Given the description of an element on the screen output the (x, y) to click on. 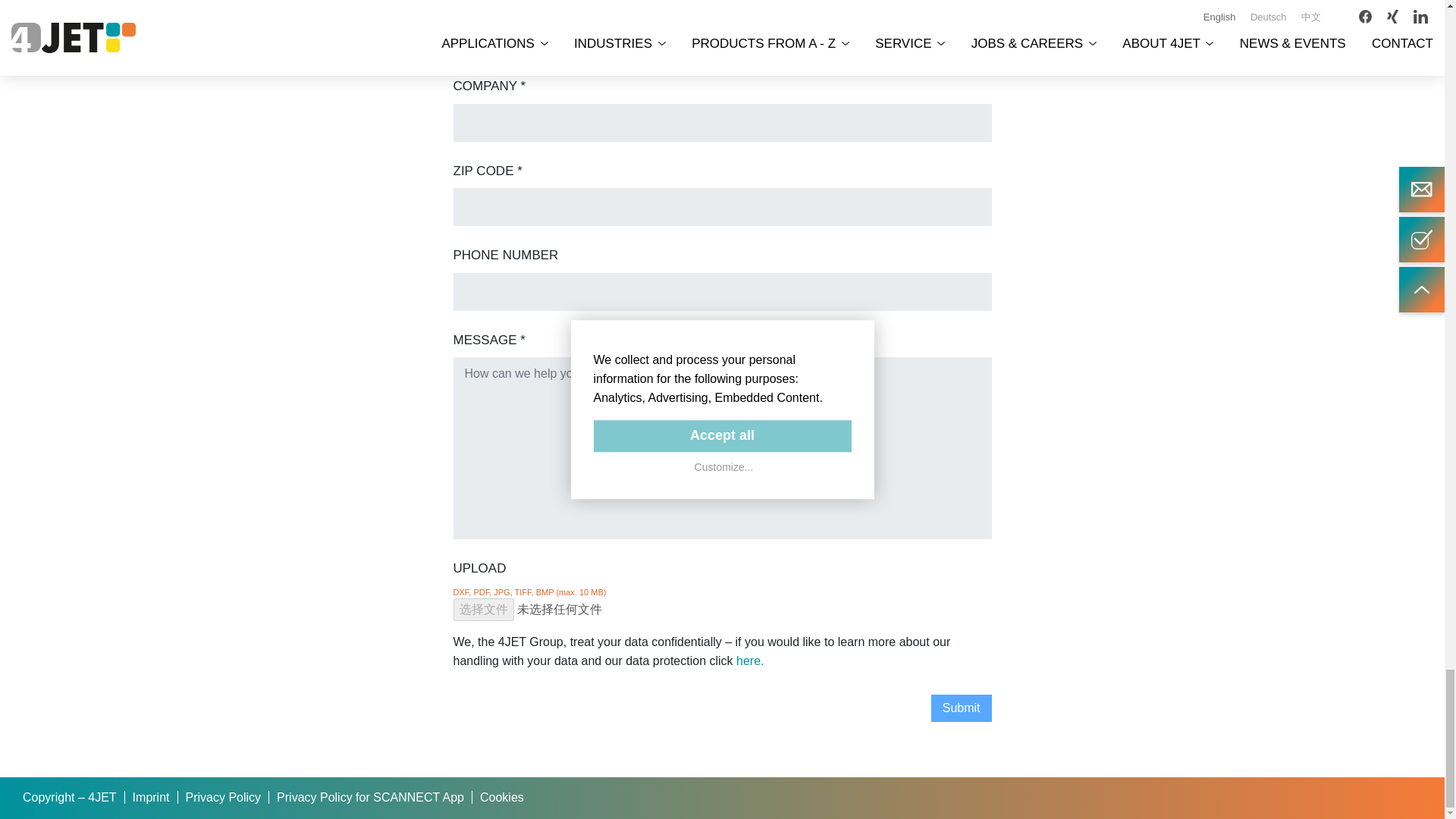
Submit (961, 707)
